Given the description of an element on the screen output the (x, y) to click on. 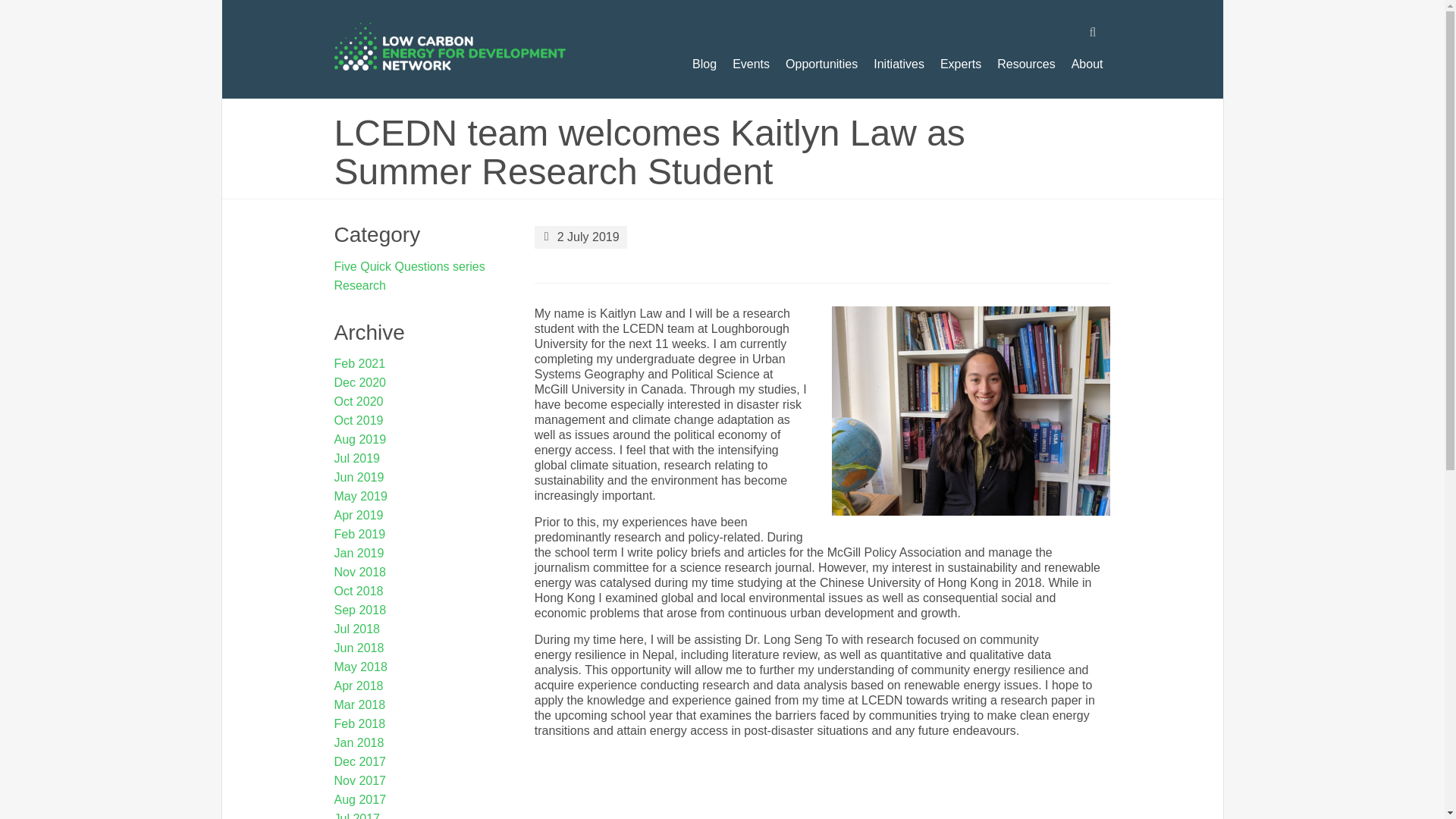
Initiatives (898, 64)
Jan 2019 (359, 553)
Feb 2021 (359, 363)
Dec 2020 (360, 382)
About (1087, 64)
Feb 2018 (359, 723)
Jan 2018 (359, 742)
Jun 2019 (359, 477)
Oct 2018 (359, 590)
Mar 2018 (359, 704)
Jul 2019 (357, 458)
Experts (960, 64)
Oct 2019 (359, 420)
Apr 2018 (359, 685)
Events (751, 64)
